Given the description of an element on the screen output the (x, y) to click on. 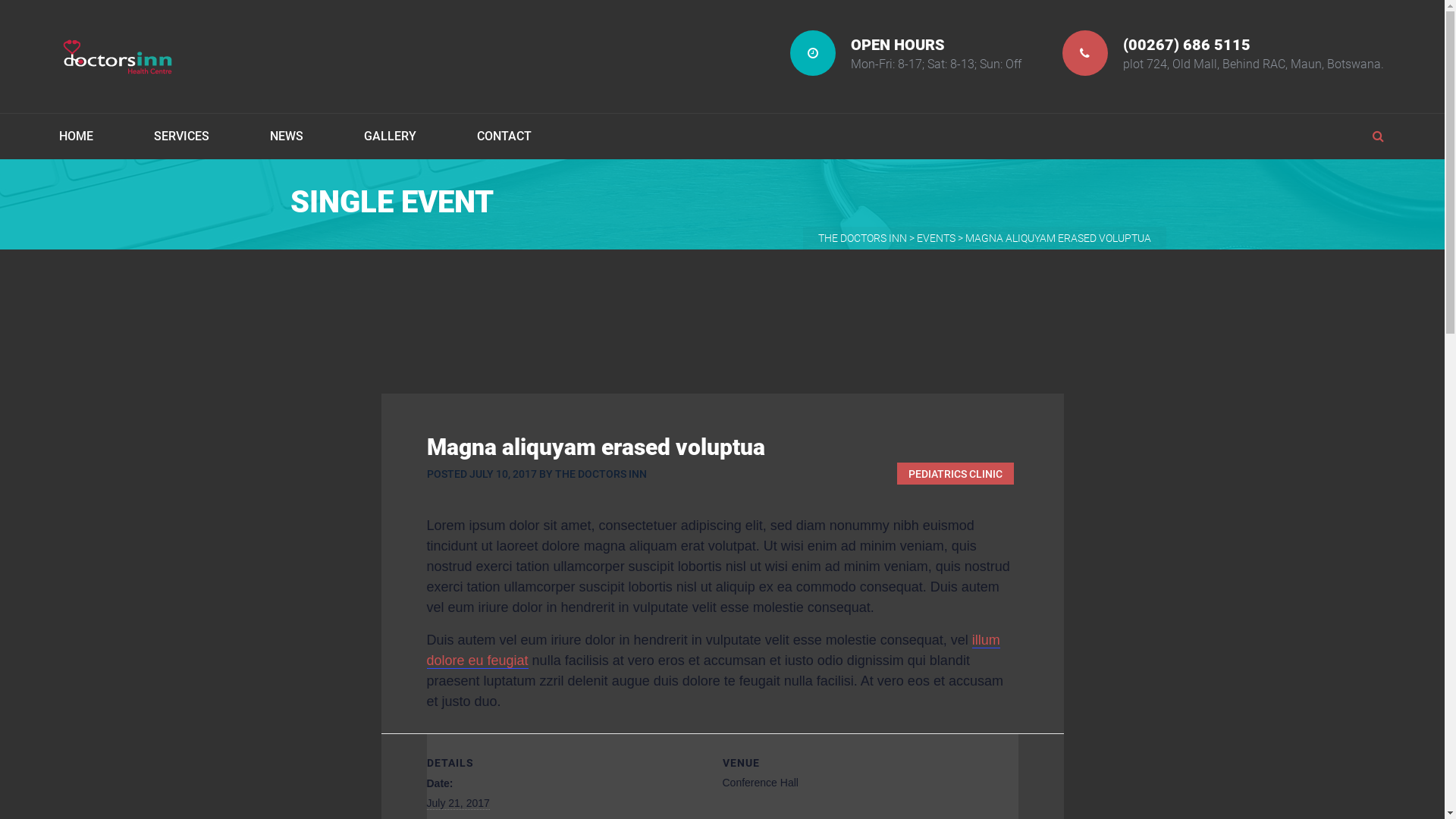
NEWS Element type: text (286, 136)
SERVICES Element type: text (181, 136)
JULY 10, 2017 Element type: text (502, 473)
HOME Element type: text (91, 136)
PEDIATRICS CLINIC Element type: text (954, 473)
illum dolore eu feugiat Element type: text (712, 650)
GALLERY Element type: text (389, 136)
EVENTS Element type: text (935, 238)
THE DOCTORS INN Element type: text (600, 473)
THE DOCTORS INN Element type: text (861, 238)
CONTACT Element type: text (488, 136)
